Given the description of an element on the screen output the (x, y) to click on. 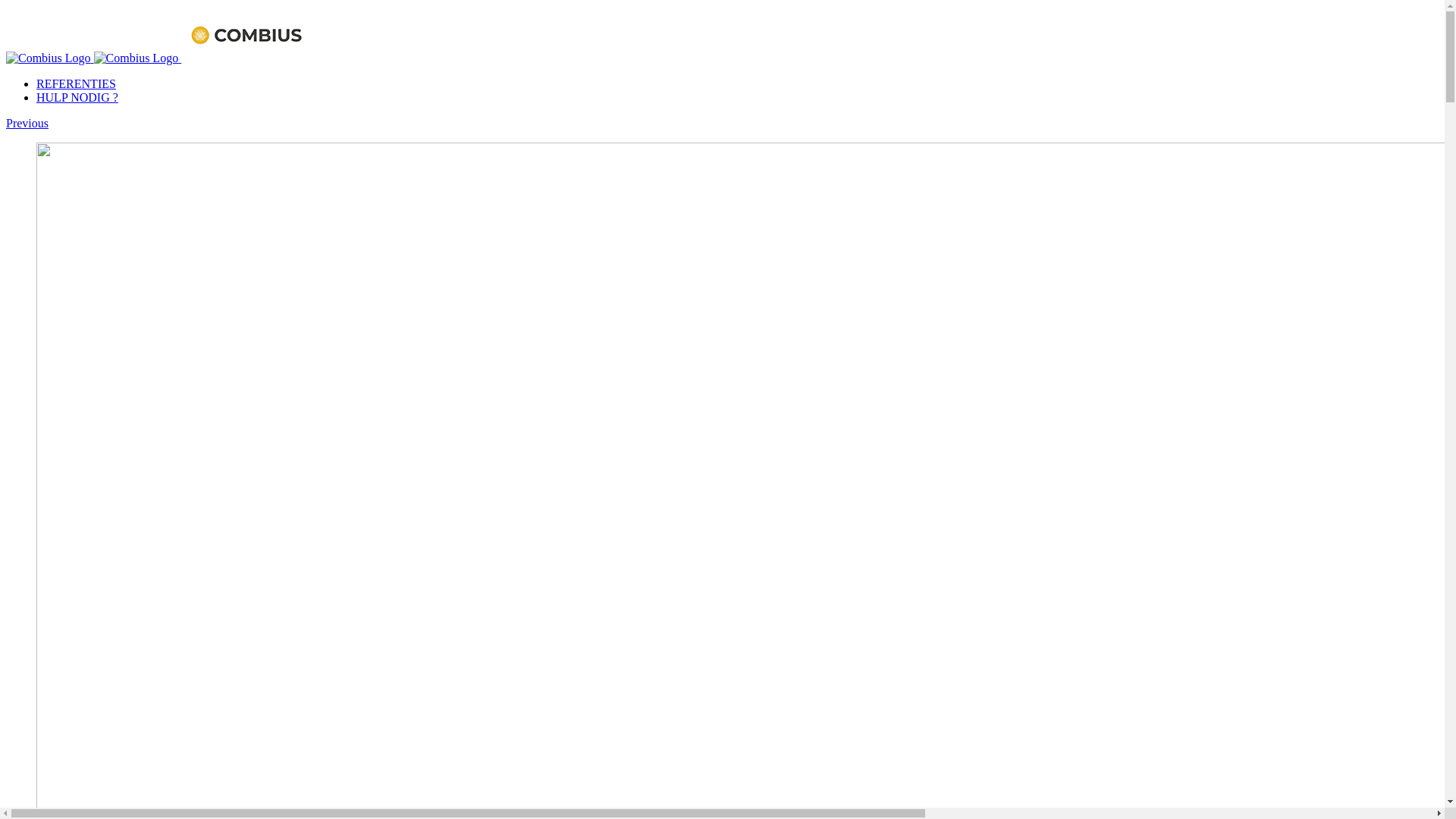
Ga naar inhoud Element type: text (5, 5)
REFERENTIES Element type: text (76, 83)
Previous Element type: text (27, 122)
HULP NODIG ? Element type: text (77, 97)
